Given the description of an element on the screen output the (x, y) to click on. 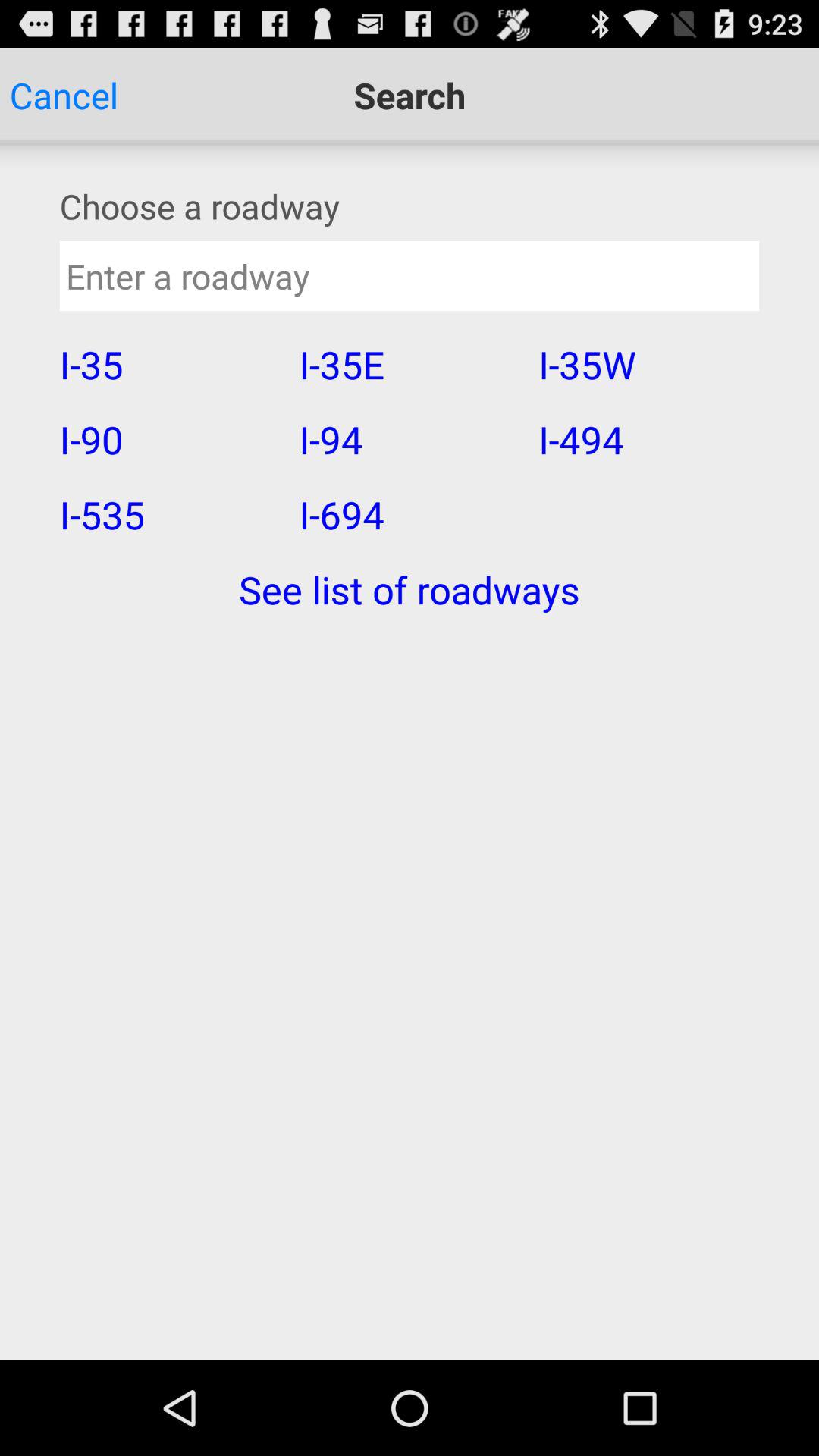
click choose a roadway (409, 206)
